Given the description of an element on the screen output the (x, y) to click on. 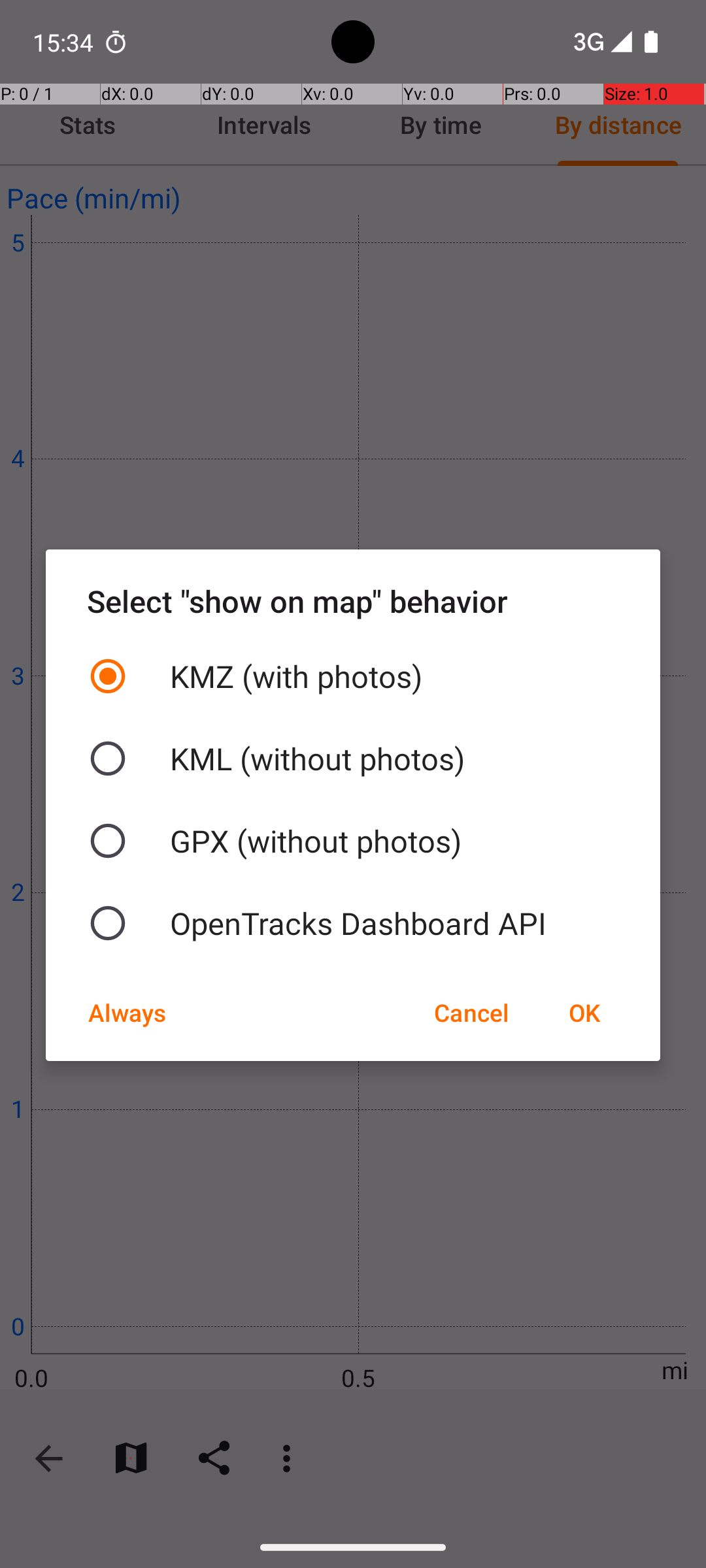
Select "show on map" behavior Element type: android.widget.TextView (352, 600)
KML (without photos) Element type: android.widget.CheckedTextView (352, 758)
GPX (without photos) Element type: android.widget.CheckedTextView (352, 840)
OpenTracks Dashboard API Element type: android.widget.CheckedTextView (352, 923)
